Given the description of an element on the screen output the (x, y) to click on. 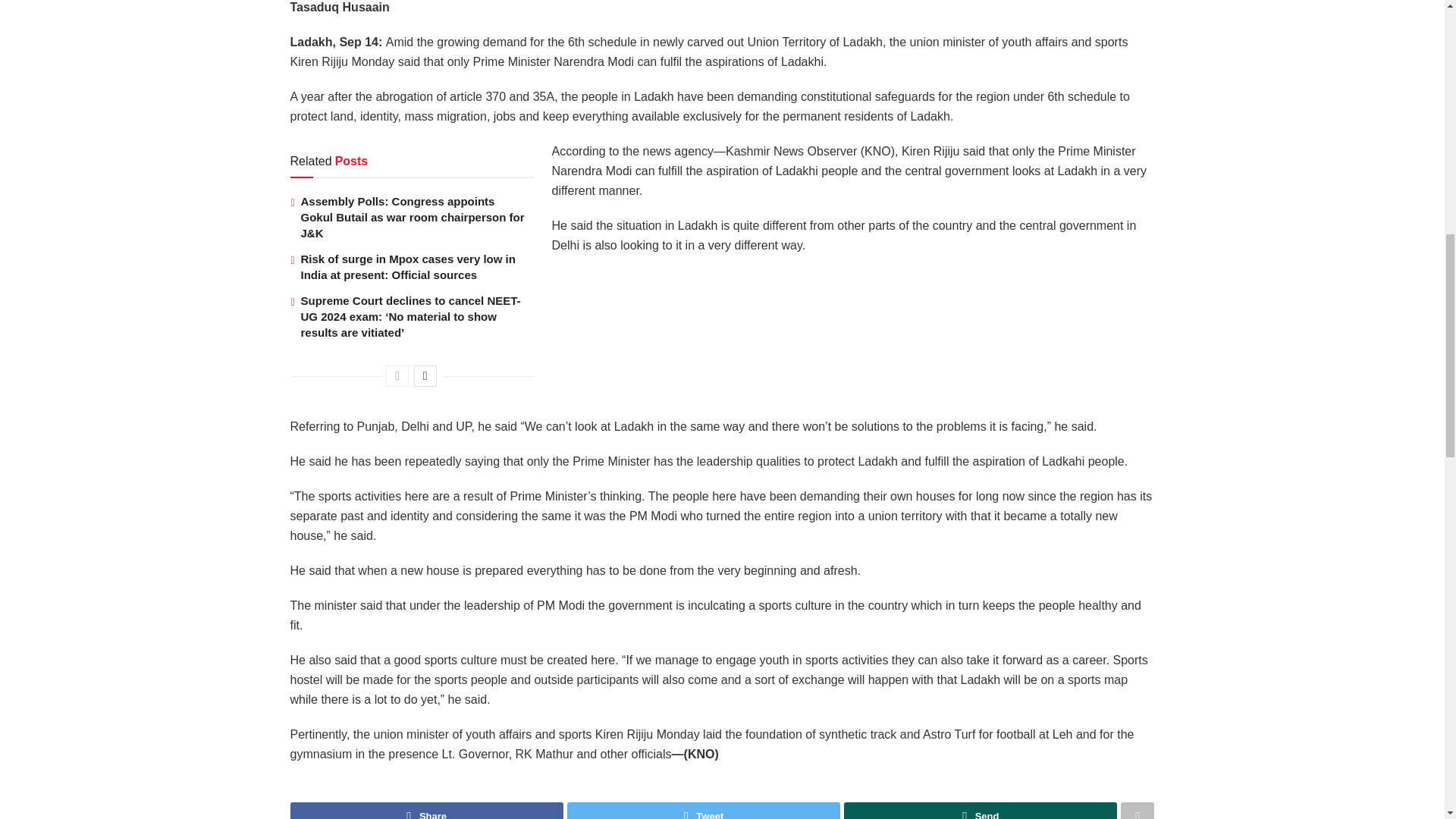
Share (425, 810)
Previous (397, 375)
Next (424, 375)
